Given the description of an element on the screen output the (x, y) to click on. 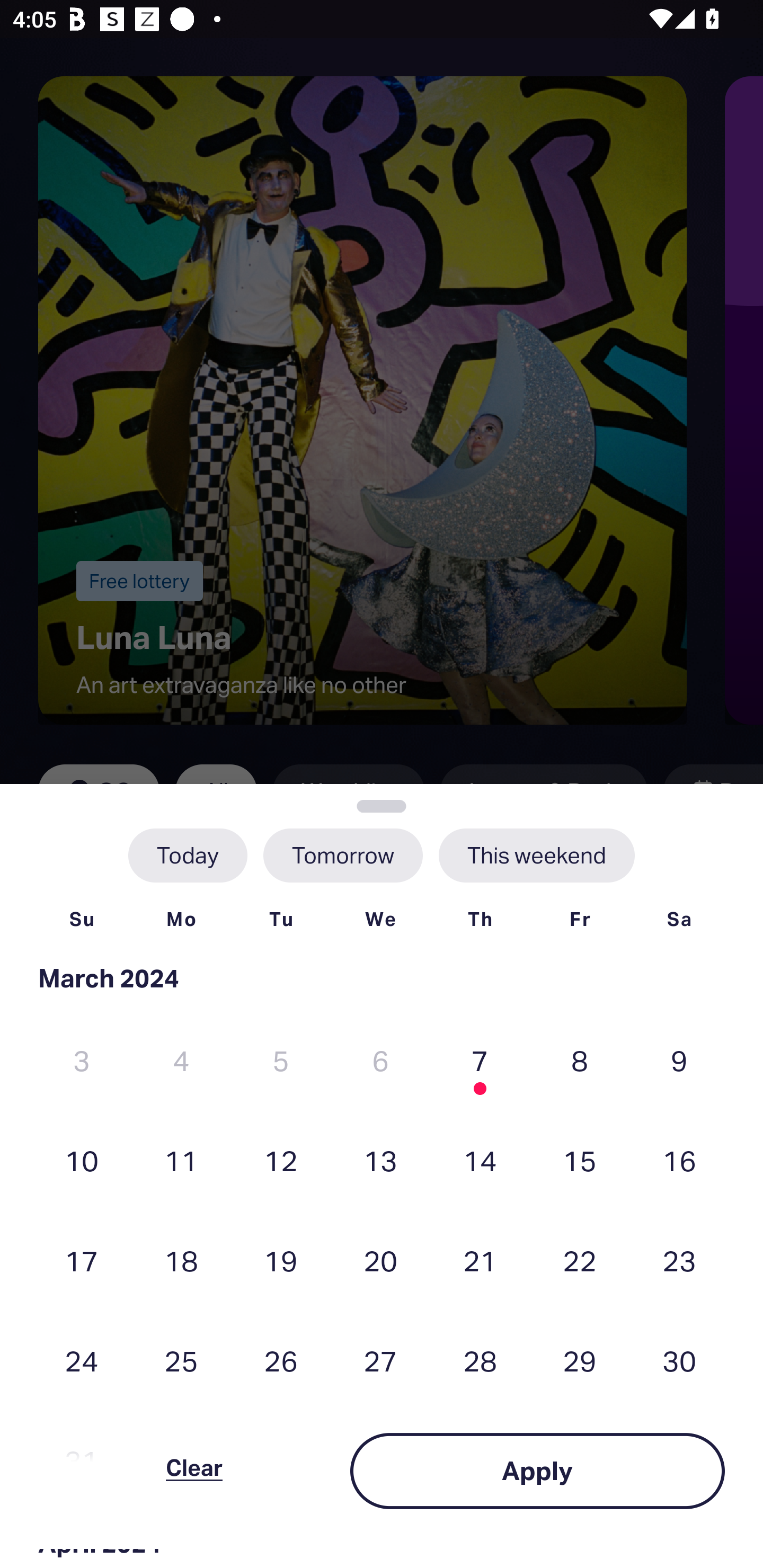
Today (187, 854)
Tomorrow (342, 854)
This weekend (536, 854)
3 (81, 1060)
4 (181, 1060)
5 (280, 1060)
6 (380, 1060)
7 (479, 1060)
8 (579, 1060)
9 (678, 1060)
10 (81, 1160)
11 (181, 1160)
12 (280, 1160)
13 (380, 1160)
14 (479, 1160)
15 (579, 1160)
16 (678, 1160)
17 (81, 1260)
18 (181, 1260)
19 (280, 1260)
20 (380, 1260)
21 (479, 1260)
22 (579, 1260)
23 (678, 1260)
24 (81, 1360)
25 (181, 1360)
26 (280, 1360)
27 (380, 1360)
28 (479, 1360)
29 (579, 1360)
30 (678, 1360)
Clear (194, 1470)
Apply (537, 1470)
